Given the description of an element on the screen output the (x, y) to click on. 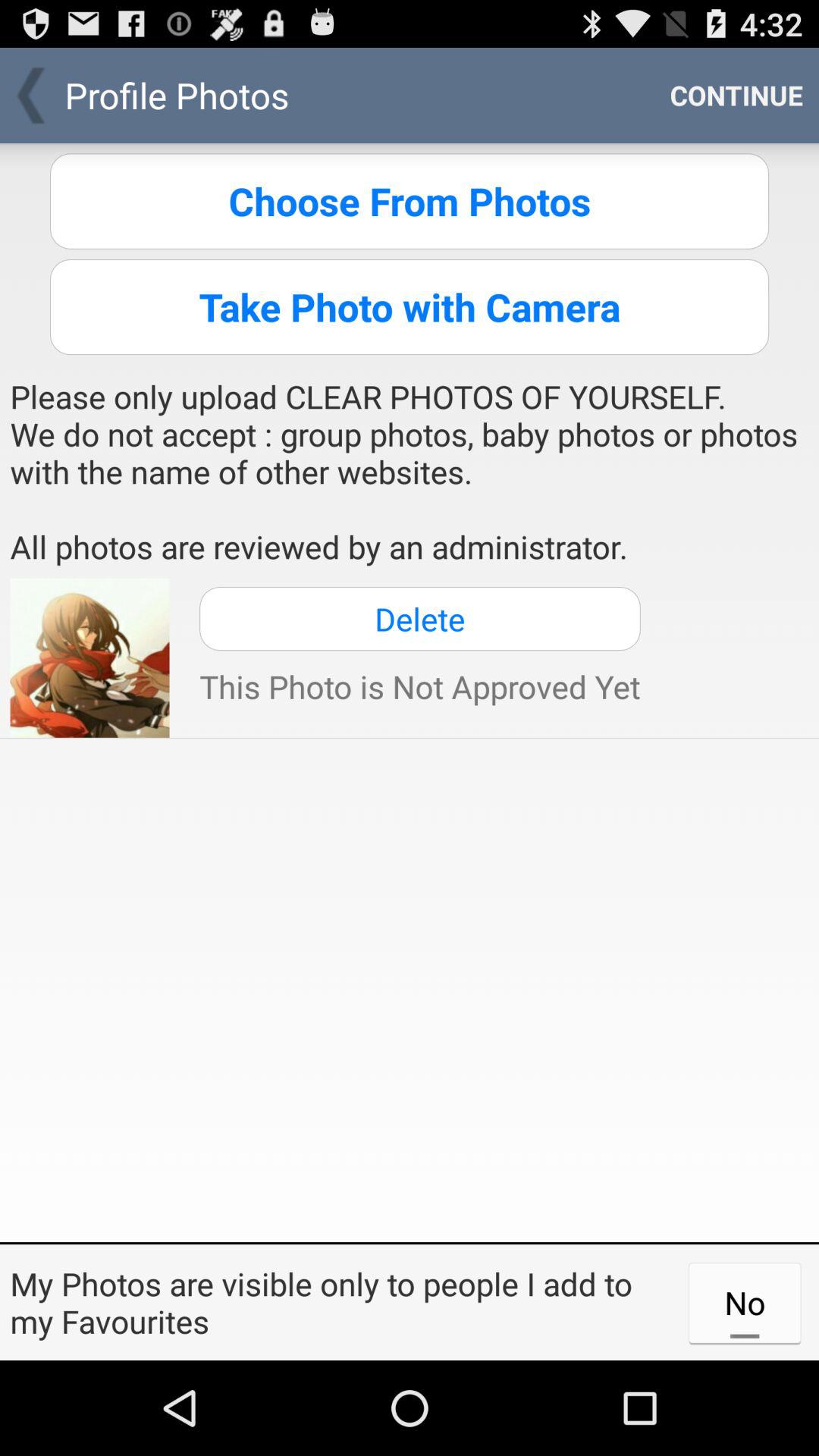
launch continue item (736, 95)
